Given the description of an element on the screen output the (x, y) to click on. 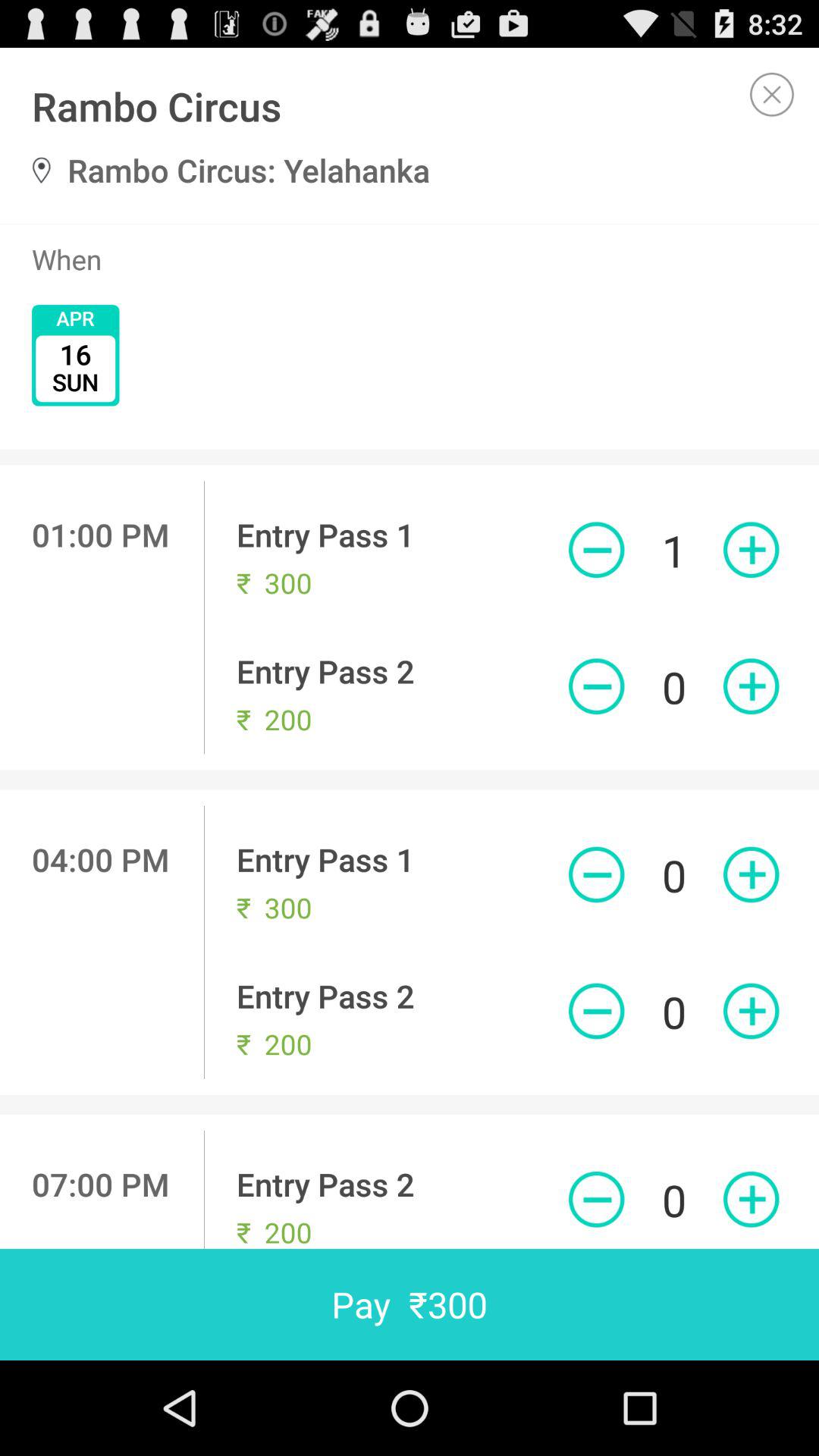
close current screen (772, 94)
